Given the description of an element on the screen output the (x, y) to click on. 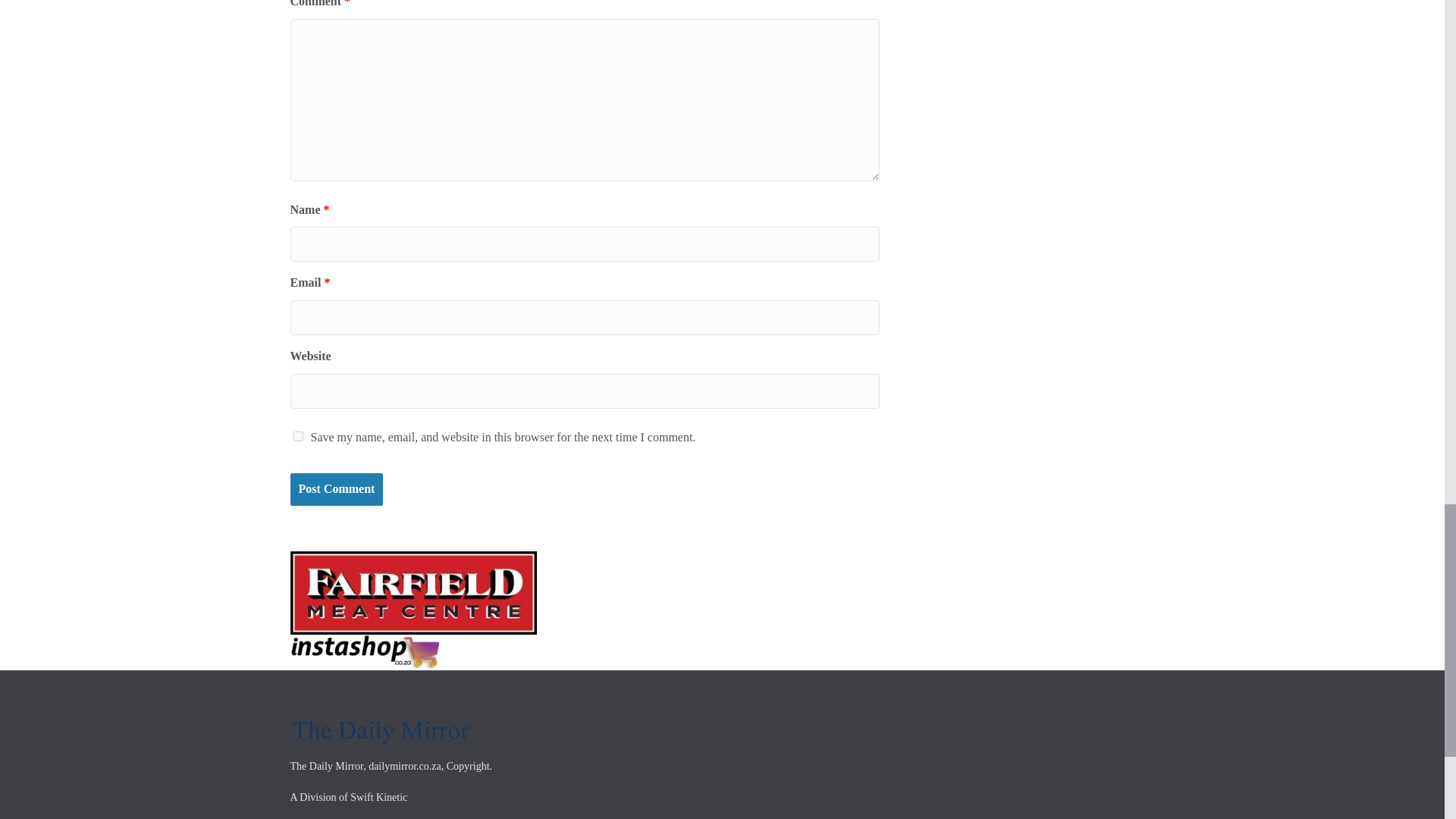
yes (297, 436)
Post Comment (335, 489)
Post Comment (335, 489)
